Given the description of an element on the screen output the (x, y) to click on. 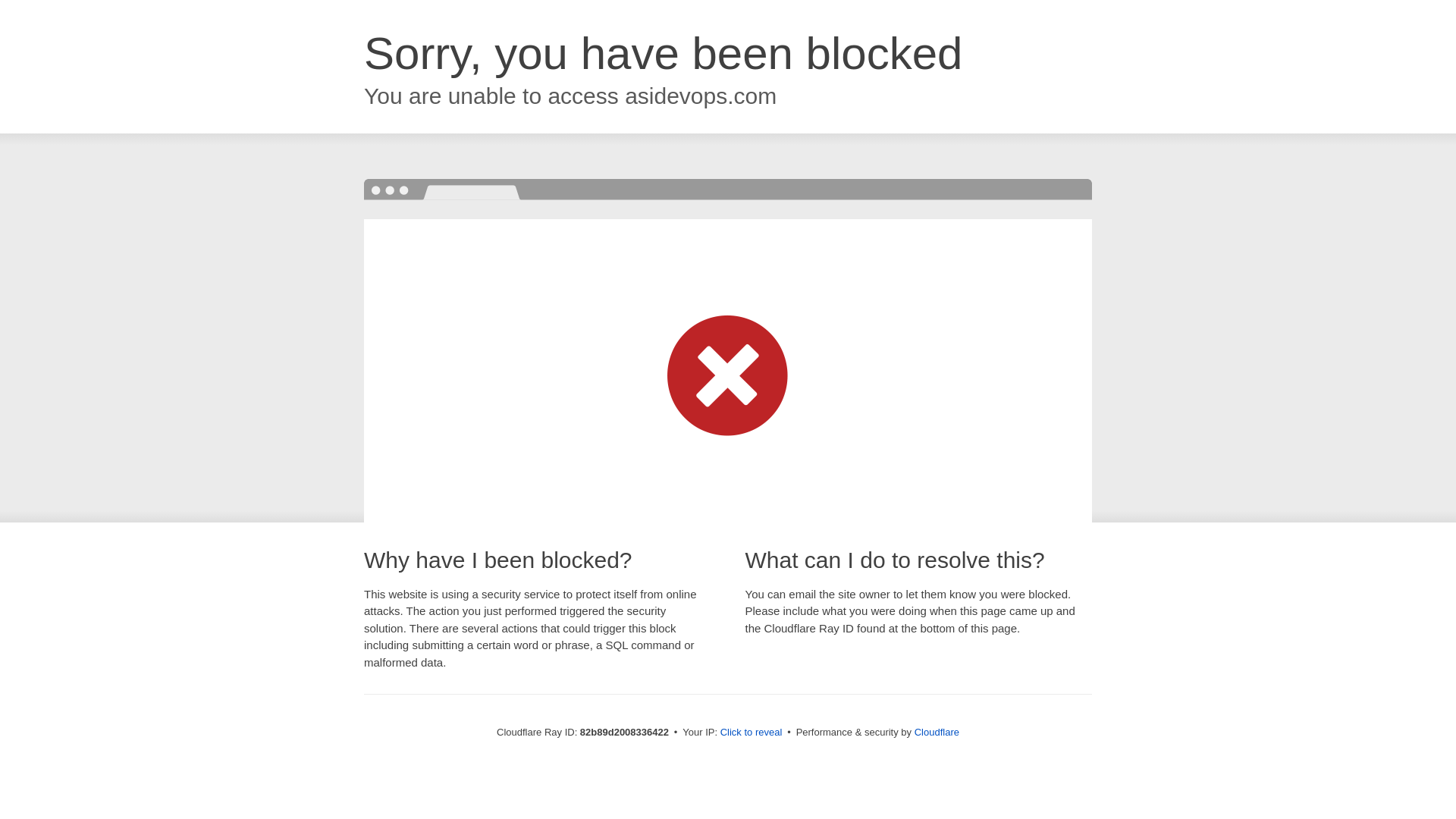
Click to reveal Element type: text (751, 732)
Cloudflare Element type: text (936, 731)
